Given the description of an element on the screen output the (x, y) to click on. 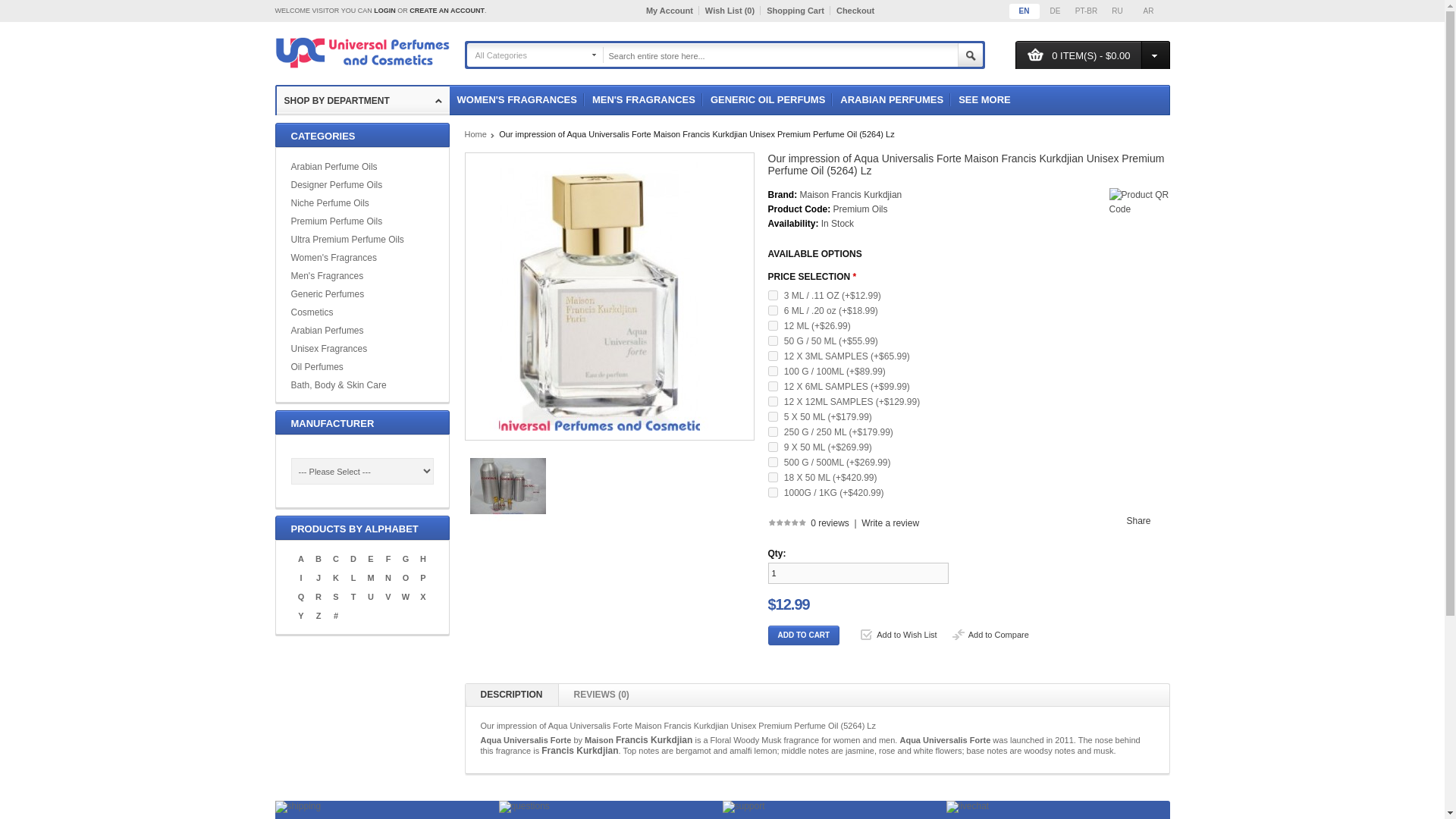
WOMEN'S FRAGRANCES (515, 100)
40297 (772, 295)
Search (968, 54)
EN (1024, 11)
PT-BR (1085, 11)
Checkout (855, 10)
AR (1147, 11)
40296 (772, 310)
Shop by department (362, 100)
My Account (672, 10)
LOGIN (385, 10)
ARABIAN PERFUMES (891, 100)
Search (968, 54)
40289 (772, 356)
DE (1055, 11)
